Given the description of an element on the screen output the (x, y) to click on. 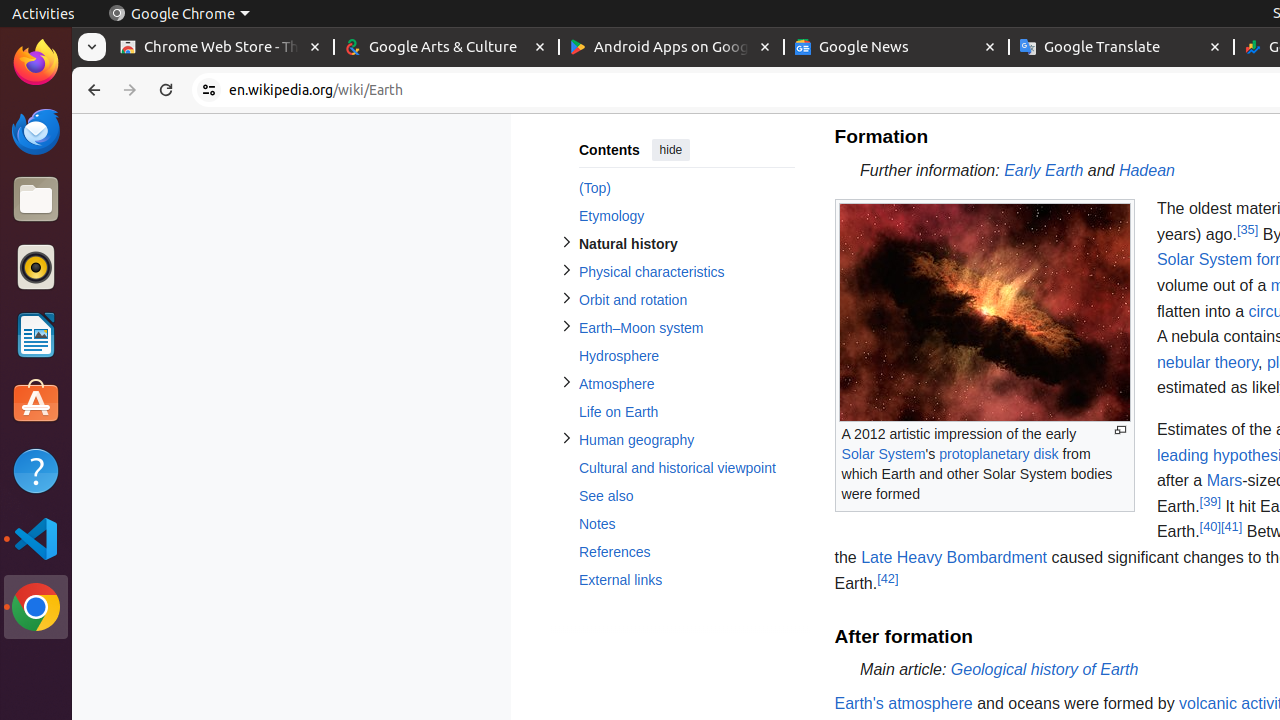
Toggle Orbit and rotation subsection Element type: push-button (566, 298)
[39] Element type: link (1210, 501)
Ubuntu Software Element type: push-button (36, 402)
Geological history of Earth Element type: link (1044, 670)
Help Element type: push-button (36, 470)
